Given the description of an element on the screen output the (x, y) to click on. 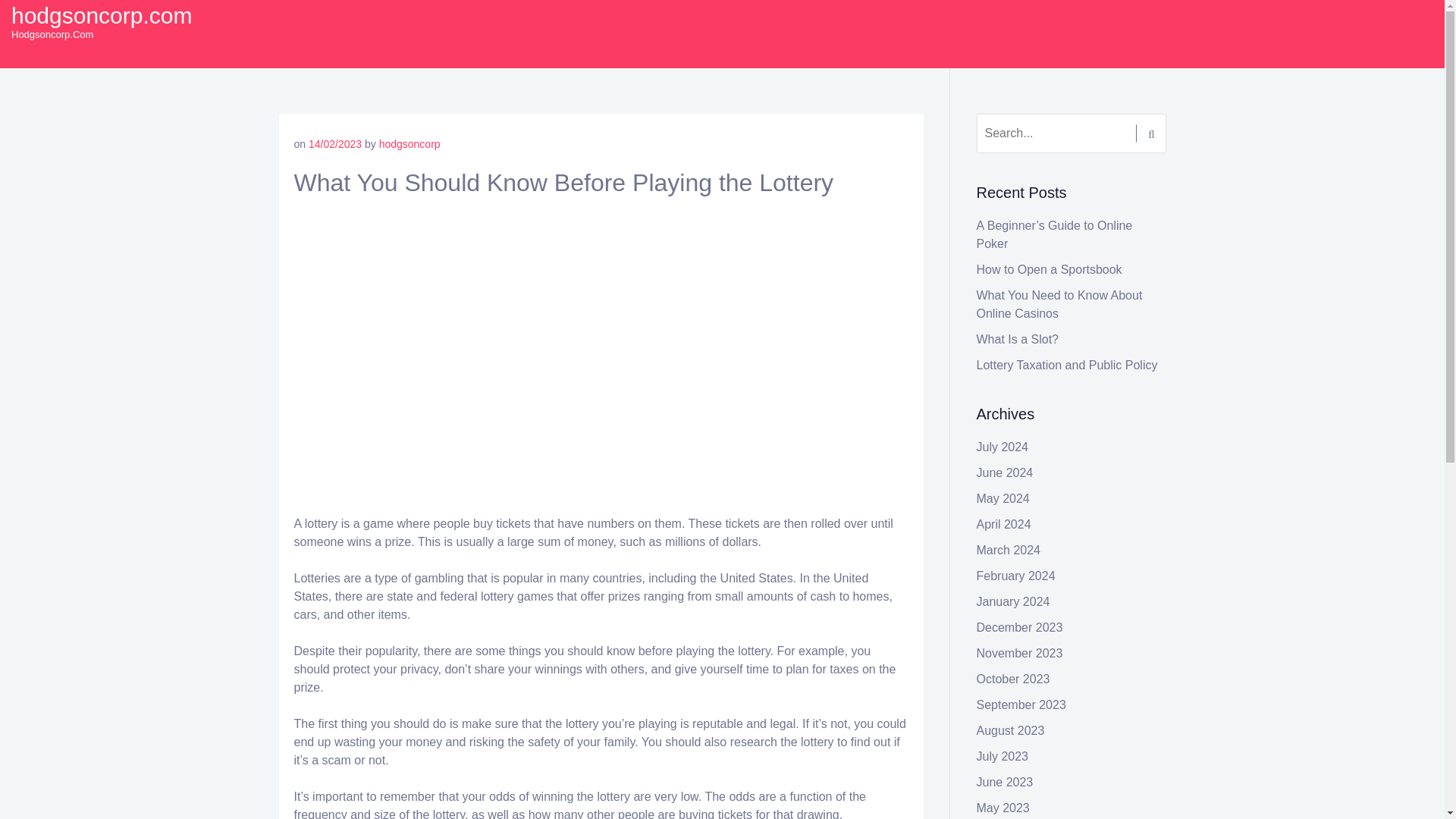
June 2023 (1004, 781)
July 2023 (1002, 756)
September 2023 (1020, 704)
Lottery Taxation and Public Policy (1066, 364)
May 2023 (1002, 807)
What You Need to Know About Online Casinos (1059, 304)
hodgsoncorp.com (101, 15)
October 2023 (1012, 678)
What Is a Slot? (1017, 338)
February 2024 (1015, 575)
November 2023 (1019, 653)
May 2024 (1002, 498)
January 2024 (1012, 601)
hodgsoncorp (409, 143)
July 2024 (1002, 446)
